Given the description of an element on the screen output the (x, y) to click on. 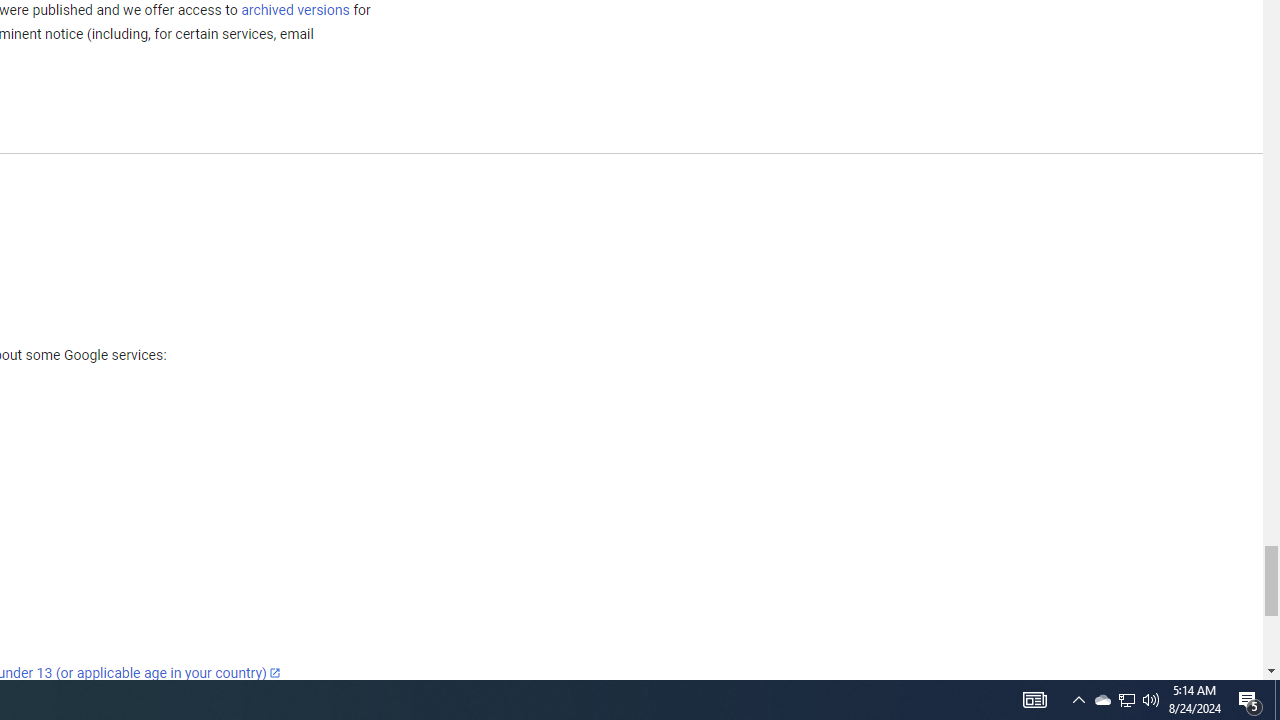
archived versions (294, 9)
